Given the description of an element on the screen output the (x, y) to click on. 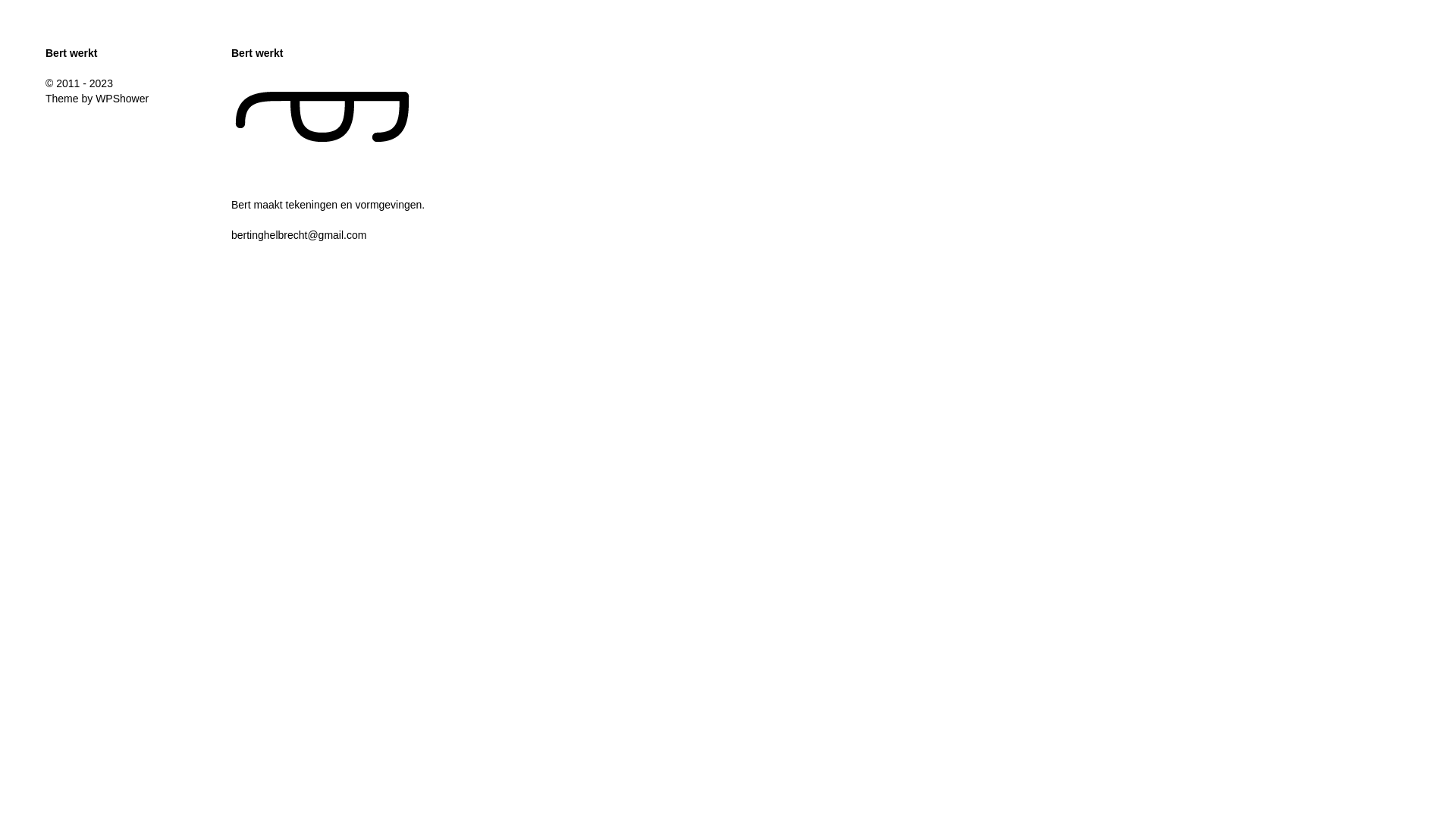
WPShower Element type: text (121, 98)
Bert werkt Element type: text (71, 53)
Logo-Bert-werkt Element type: hover (323, 117)
